Given the description of an element on the screen output the (x, y) to click on. 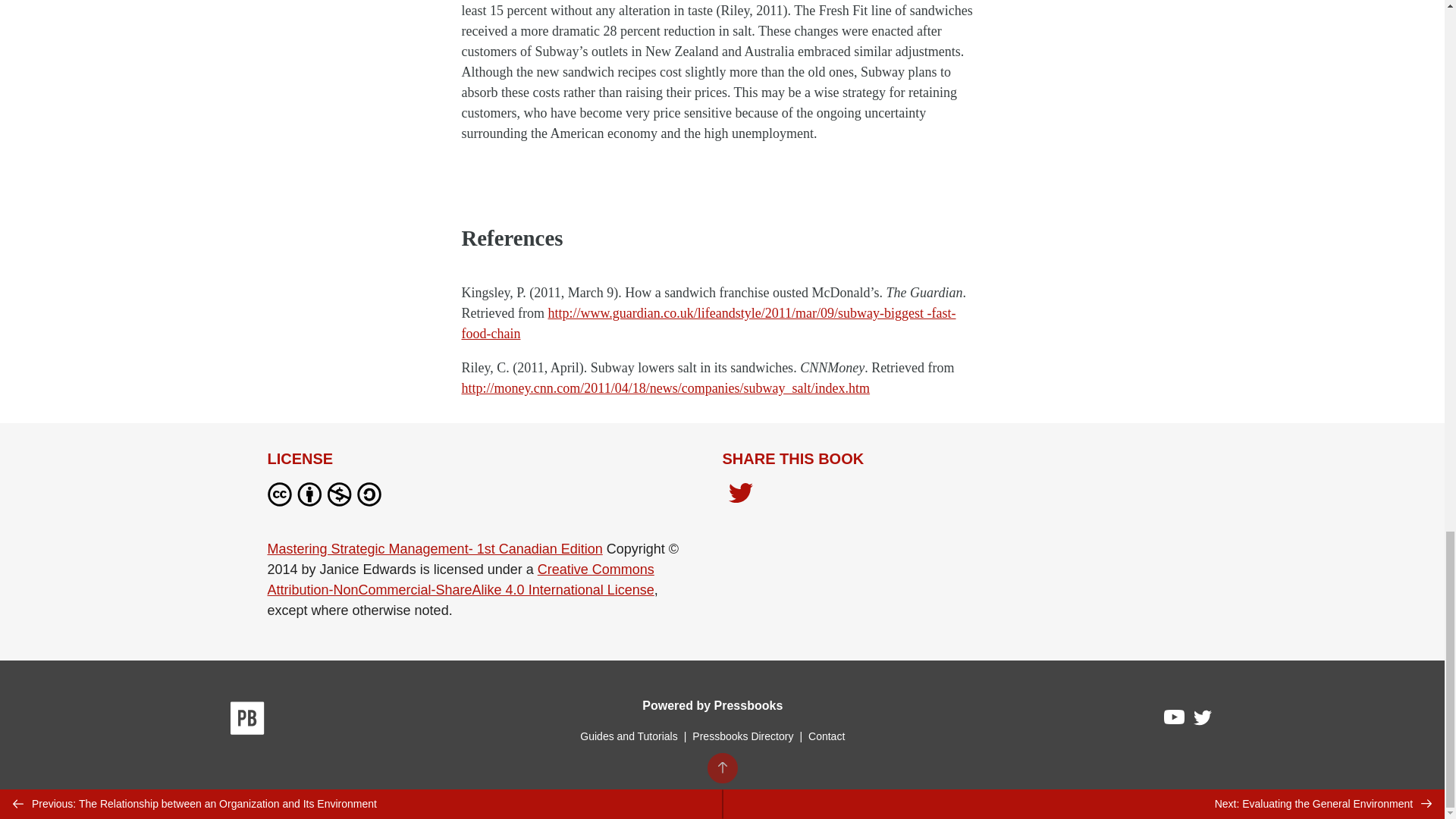
Pressbooks Directory (742, 736)
Share on Twitter (740, 494)
Contact (826, 736)
Share on Twitter (740, 496)
Pressbooks on YouTube (1174, 721)
Powered by Pressbooks (712, 705)
Guides and Tutorials (627, 736)
Mastering Strategic Management- 1st Canadian Edition (434, 548)
